Given the description of an element on the screen output the (x, y) to click on. 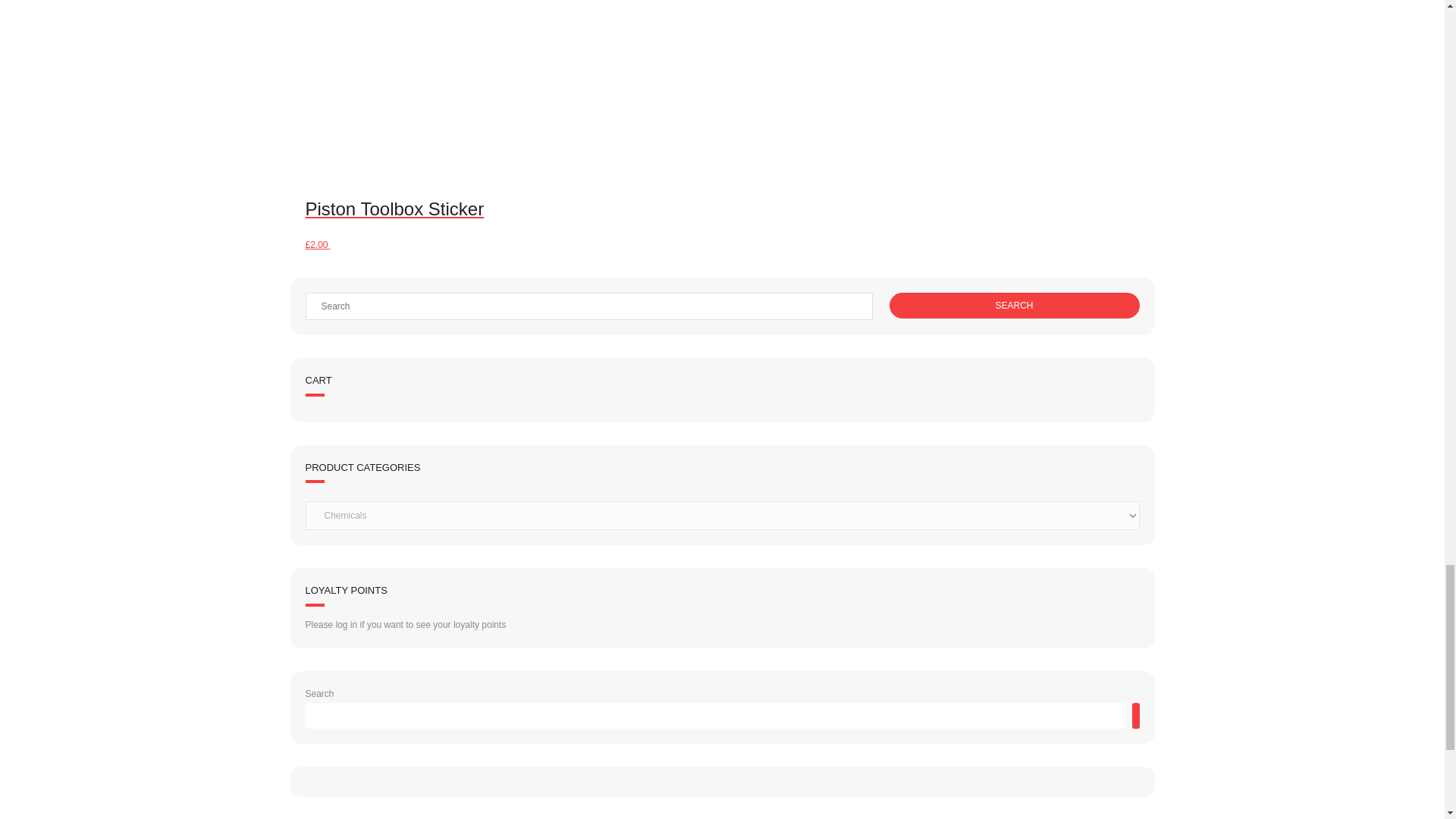
Search (1013, 305)
Search (1013, 305)
